Given the description of an element on the screen output the (x, y) to click on. 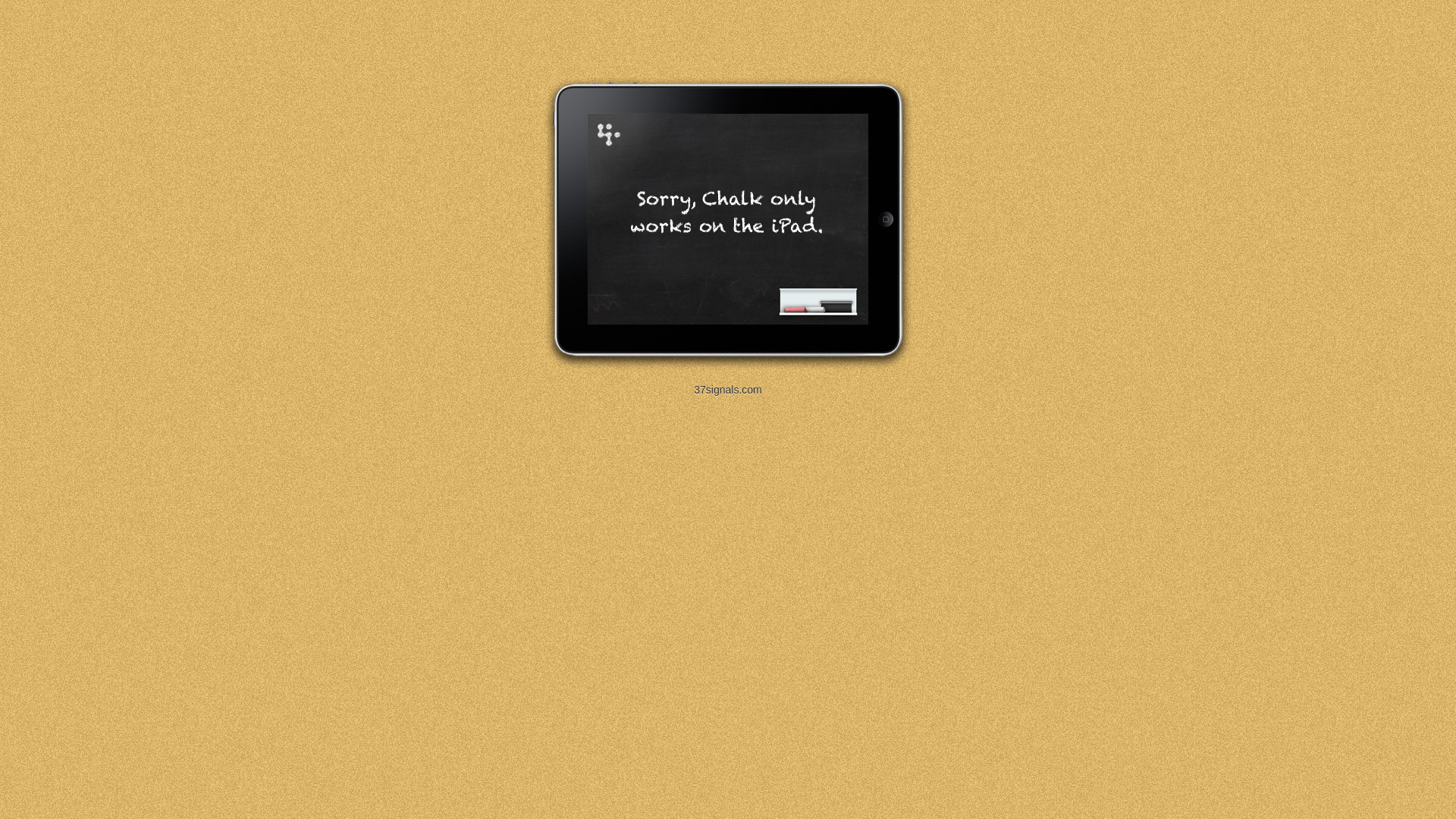
37signals.com Element type: text (727, 389)
